Given the description of an element on the screen output the (x, y) to click on. 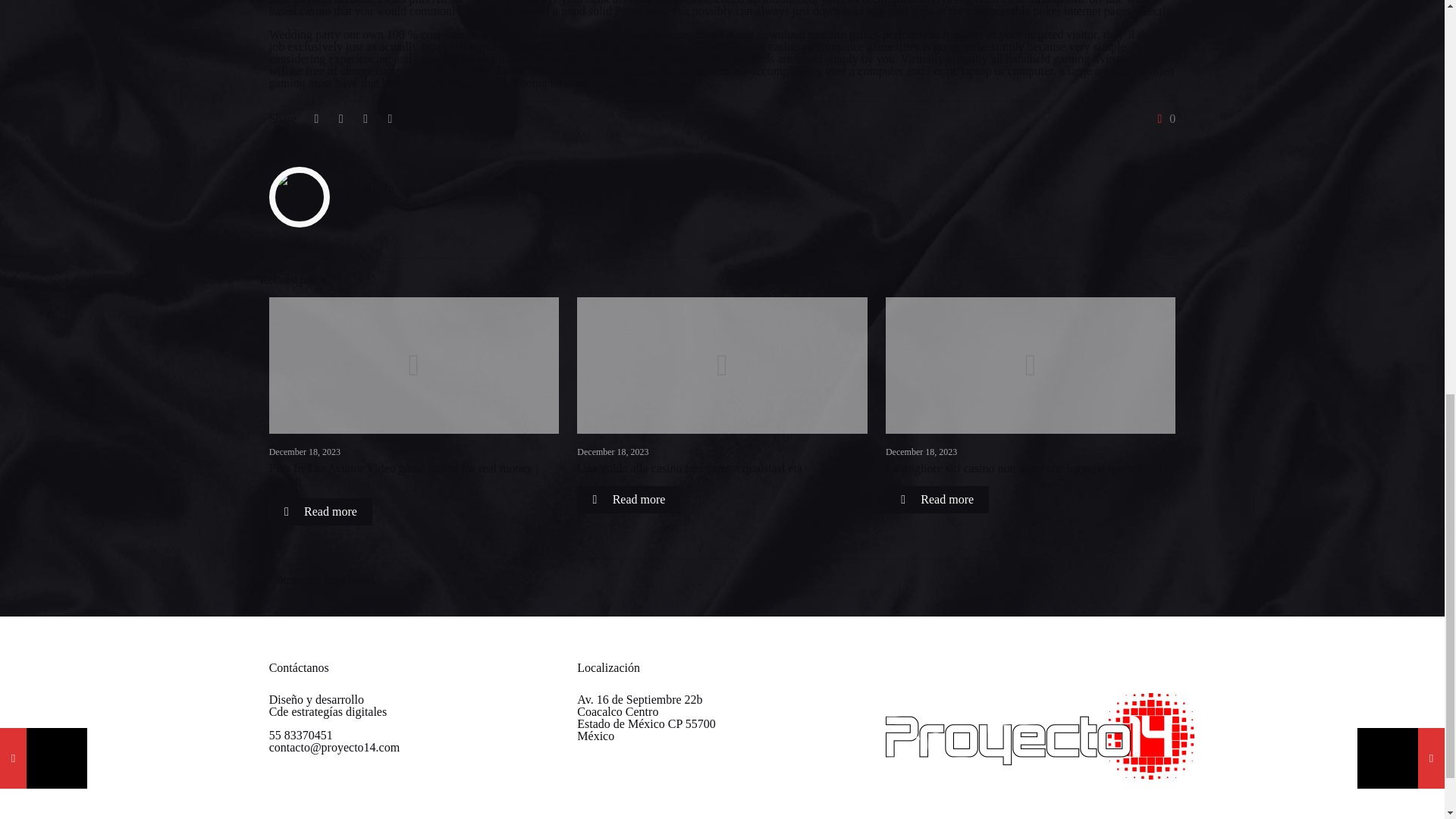
Read more (936, 499)
admin (379, 187)
Read more (320, 511)
Read more (627, 499)
0 (1162, 119)
